Given the description of an element on the screen output the (x, y) to click on. 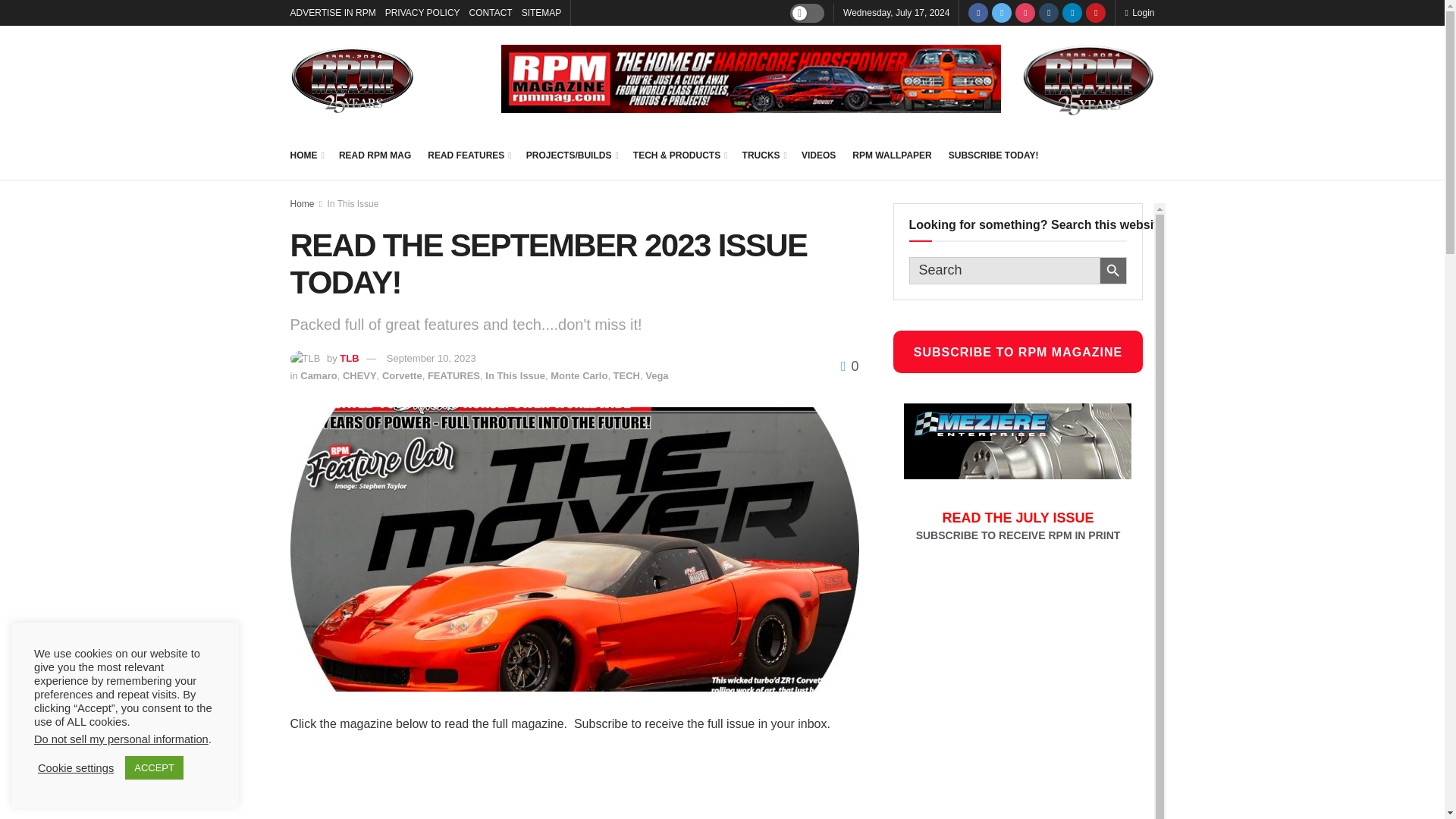
PRIVACY POLICY (422, 12)
READ RPM MAG (374, 155)
HOME (305, 155)
CONTACT (490, 12)
READ FEATURES (468, 155)
ADVERTISE IN RPM (332, 12)
SITEMAP (541, 12)
Login (1139, 12)
